Given the description of an element on the screen output the (x, y) to click on. 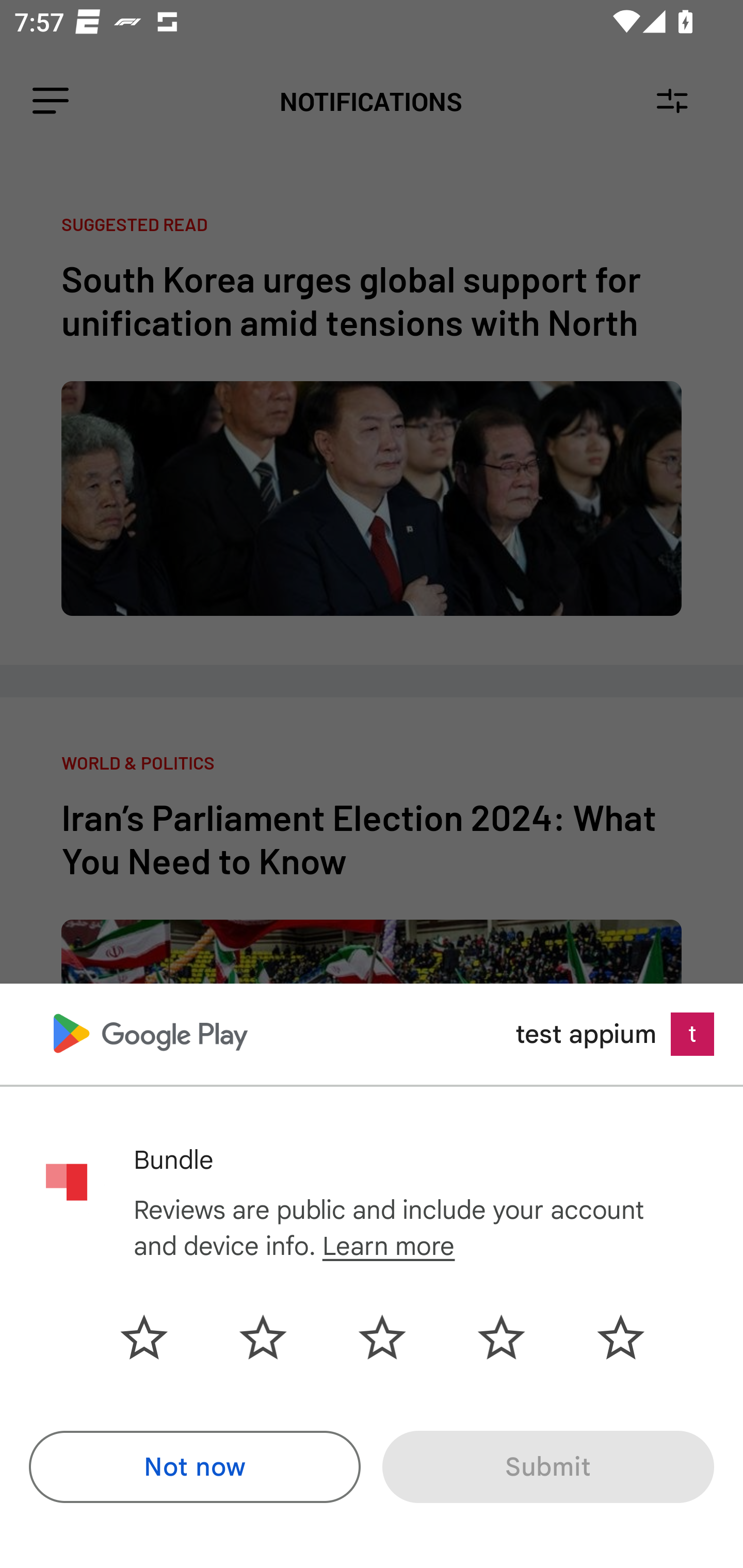
First star unselected (159, 1336)
Second star unselected (262, 1336)
Third star unselected (381, 1336)
Fourth star unselected (500, 1336)
Fifth star unselected (604, 1336)
Not now (194, 1466)
